Given the description of an element on the screen output the (x, y) to click on. 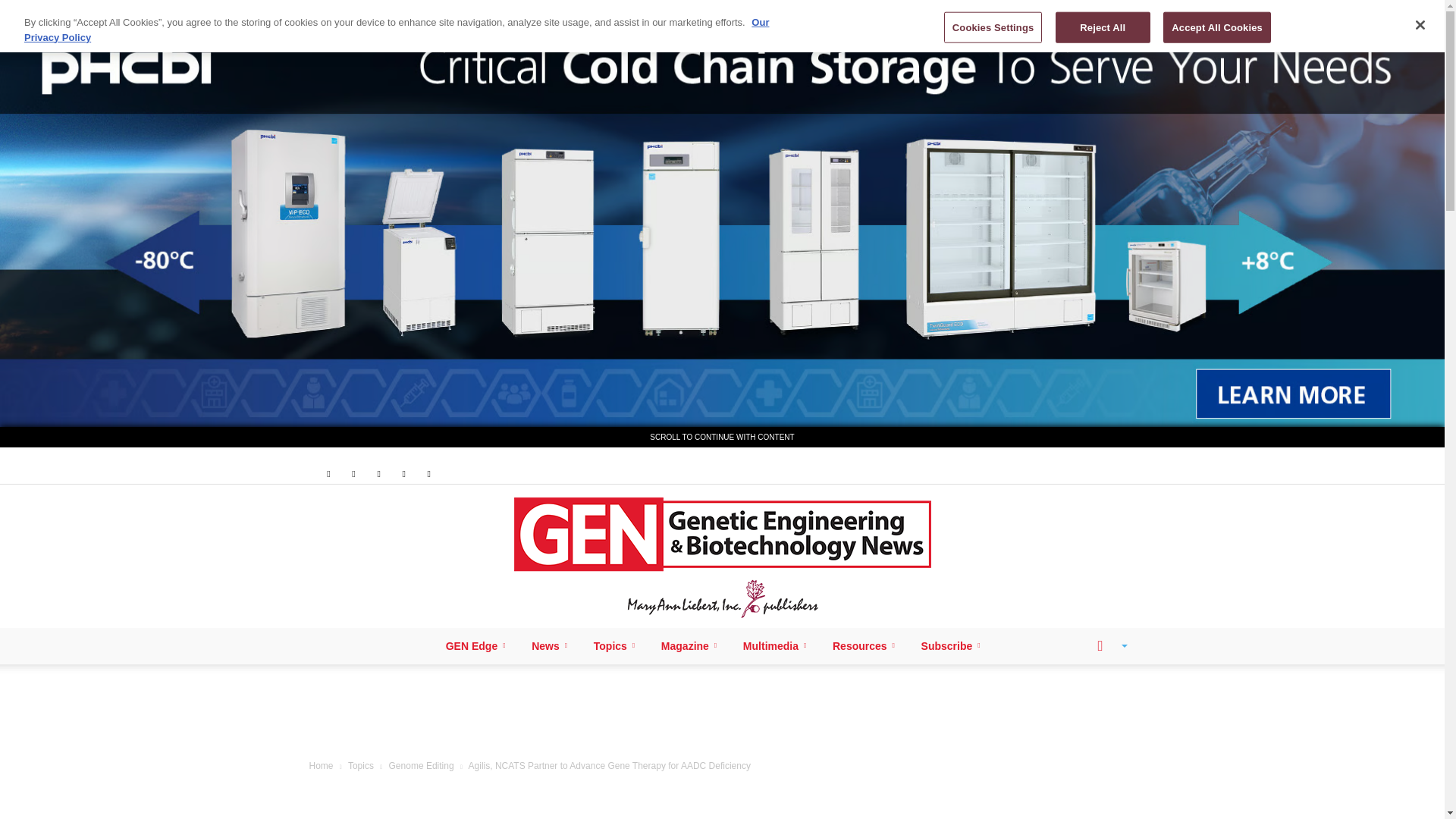
Facebook (328, 473)
Twitter (403, 473)
RSS (379, 473)
3rd party ad content (722, 713)
Linkedin (353, 473)
Youtube (429, 473)
